Given the description of an element on the screen output the (x, y) to click on. 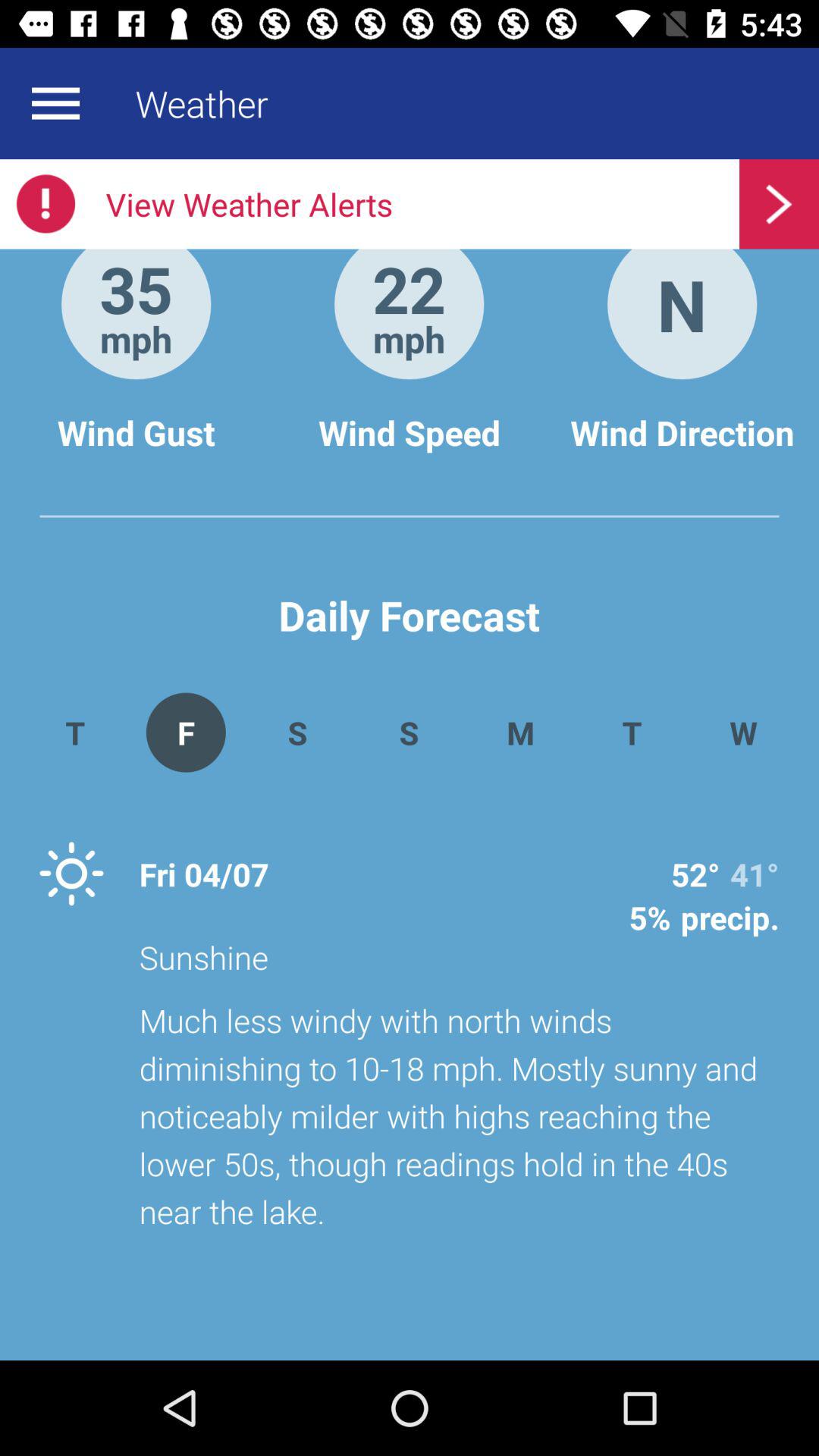
tap item to the right of t item (743, 732)
